Given the description of an element on the screen output the (x, y) to click on. 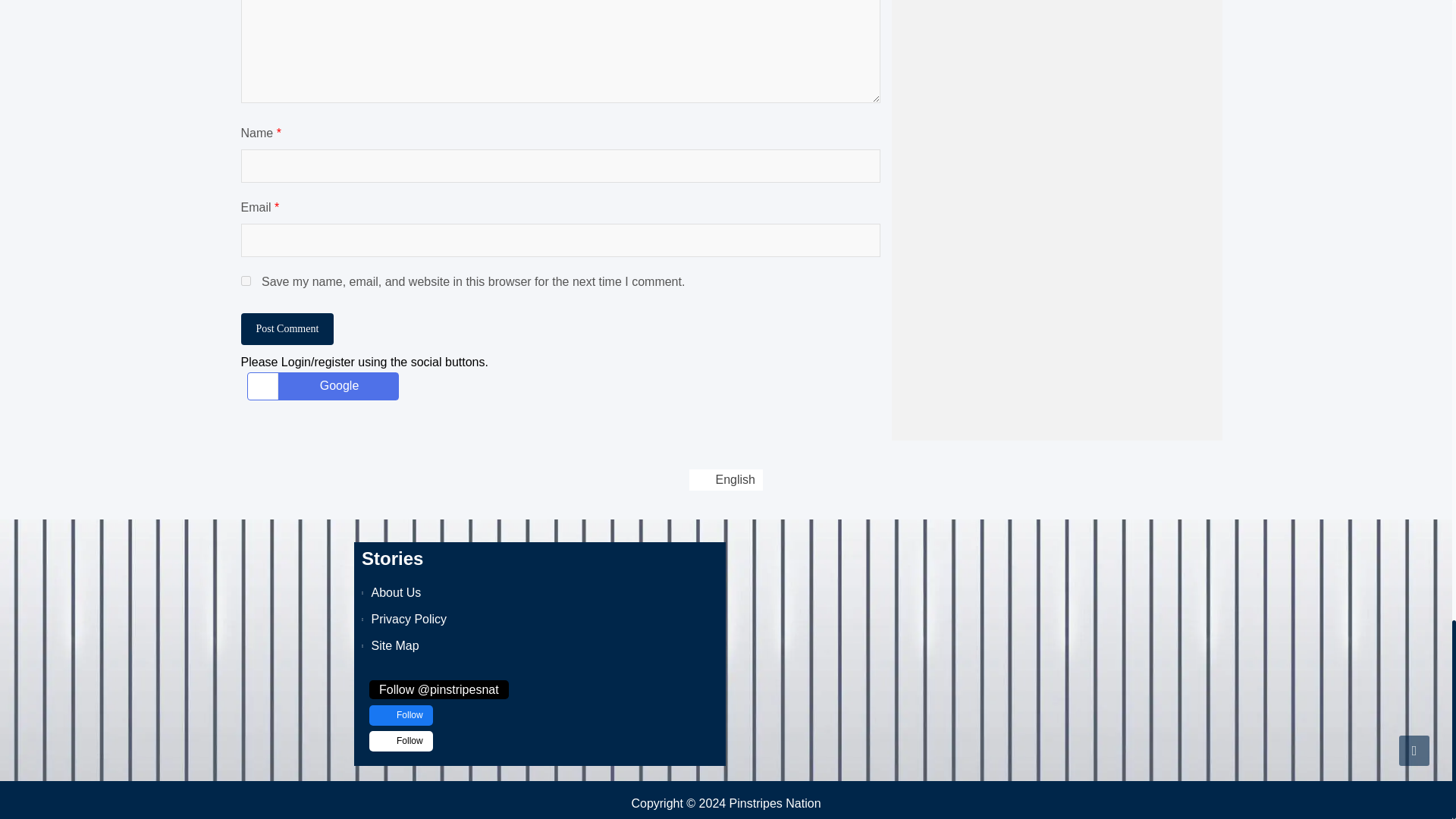
Post Comment (287, 328)
yes (245, 280)
